Given the description of an element on the screen output the (x, y) to click on. 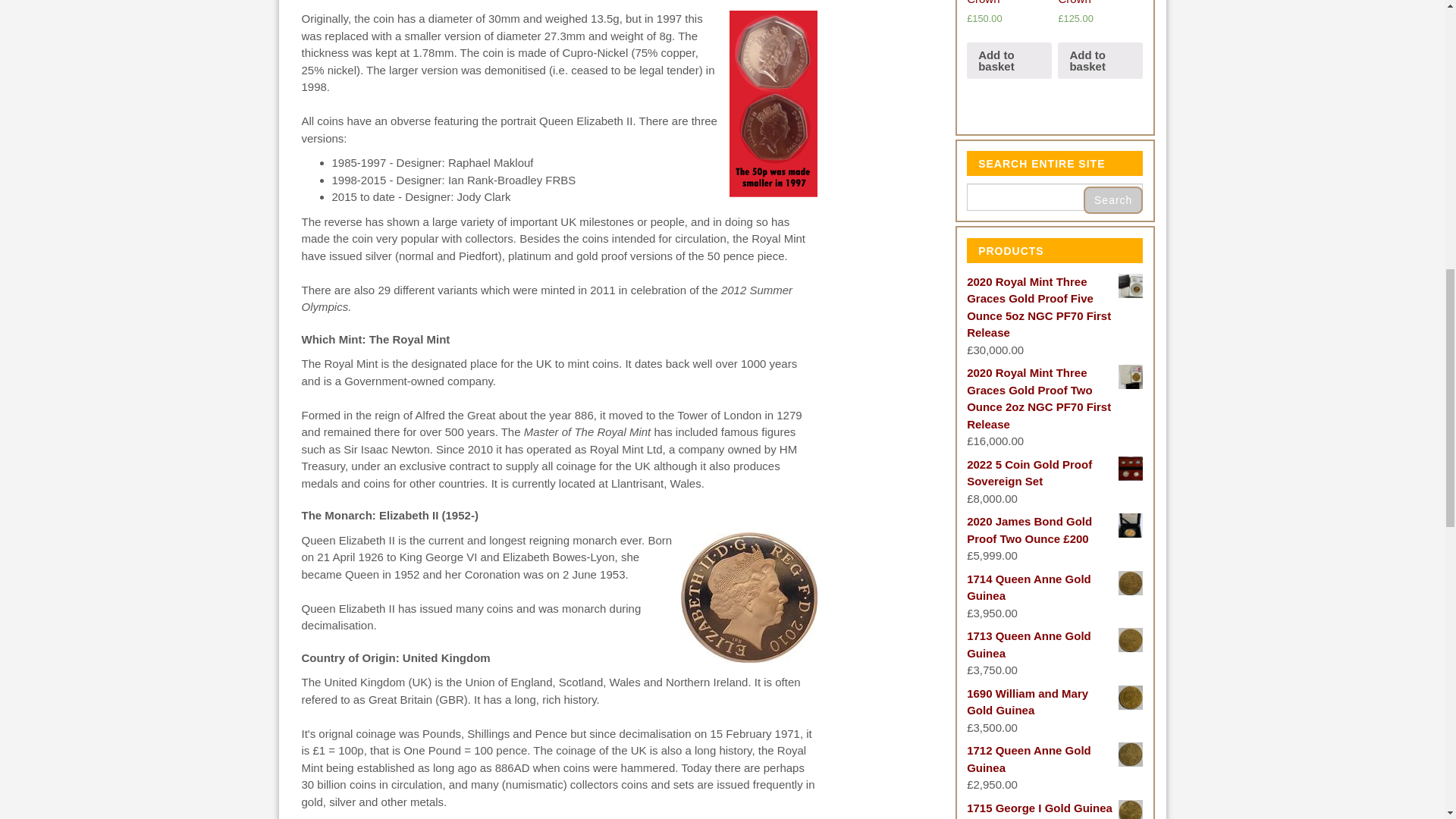
Add to basket (1008, 60)
Add to basket (1099, 60)
Search (1112, 199)
